Given the description of an element on the screen output the (x, y) to click on. 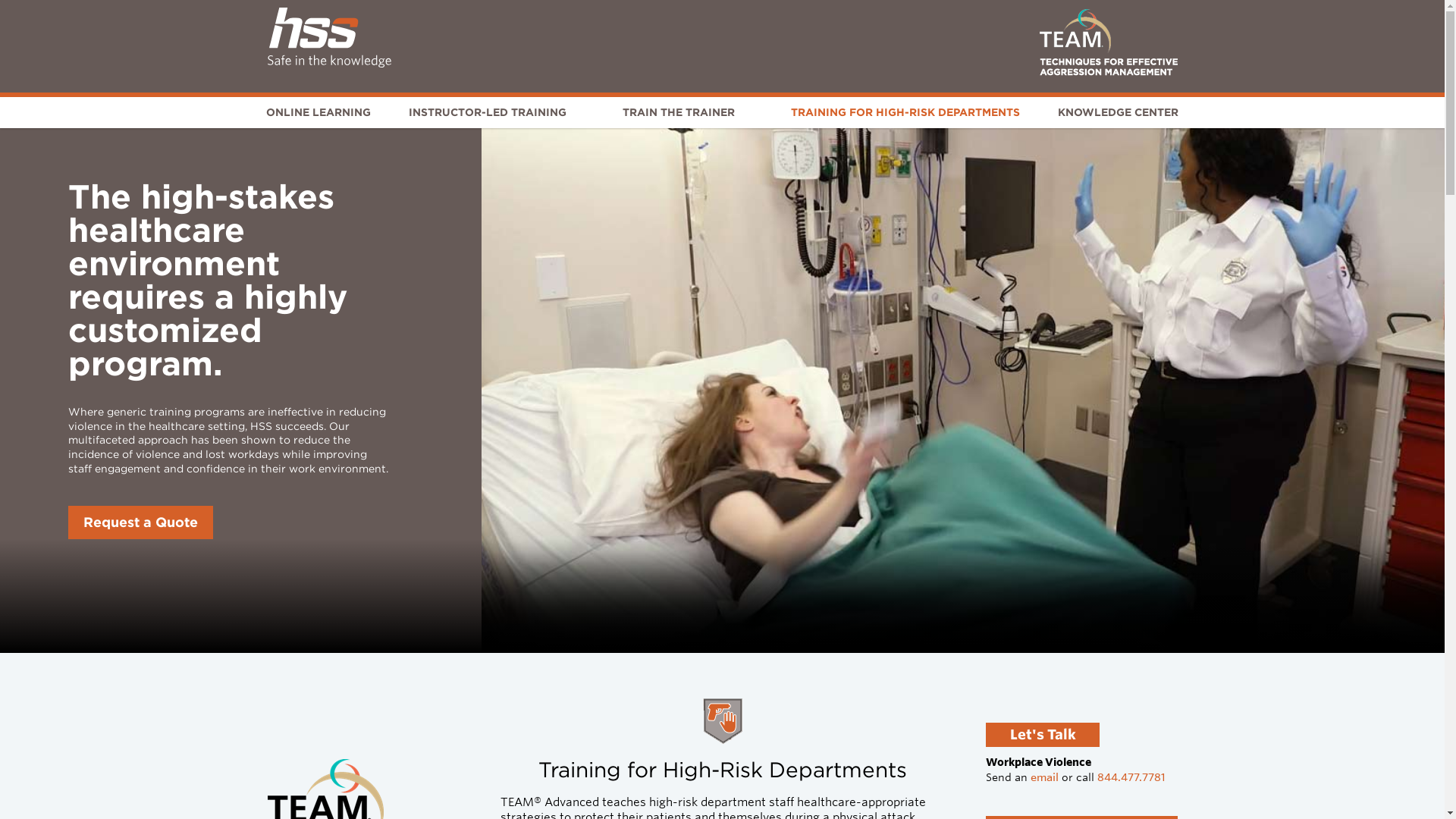
INSTRUCTOR-LED TRAINING (487, 112)
TRAINING FOR HIGH-RISK DEPARTMENTS (905, 112)
ONLINE LEARNING (318, 112)
email (1044, 777)
TRAIN THE TRAINER (678, 112)
Request a Quote (140, 522)
844.477.7781 (1131, 777)
KNOWLEDGE CENTER (1118, 112)
